Given the description of an element on the screen output the (x, y) to click on. 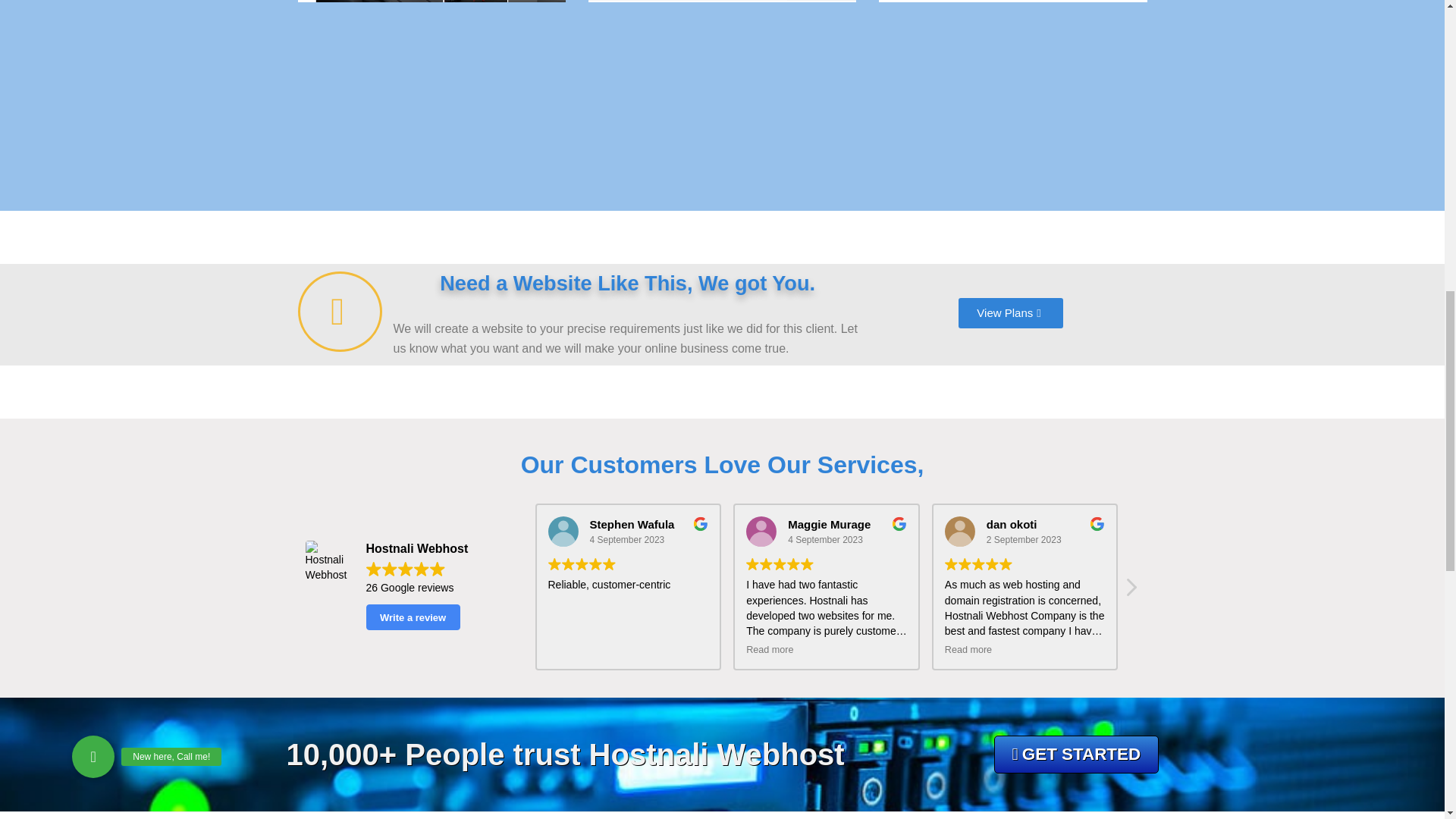
Technology Sage Website 5 (562, 531)
Technology Sage Website 7 (959, 531)
Technology Sage Website 6 (760, 531)
Technology Sage Website 4 (328, 564)
